Given the description of an element on the screen output the (x, y) to click on. 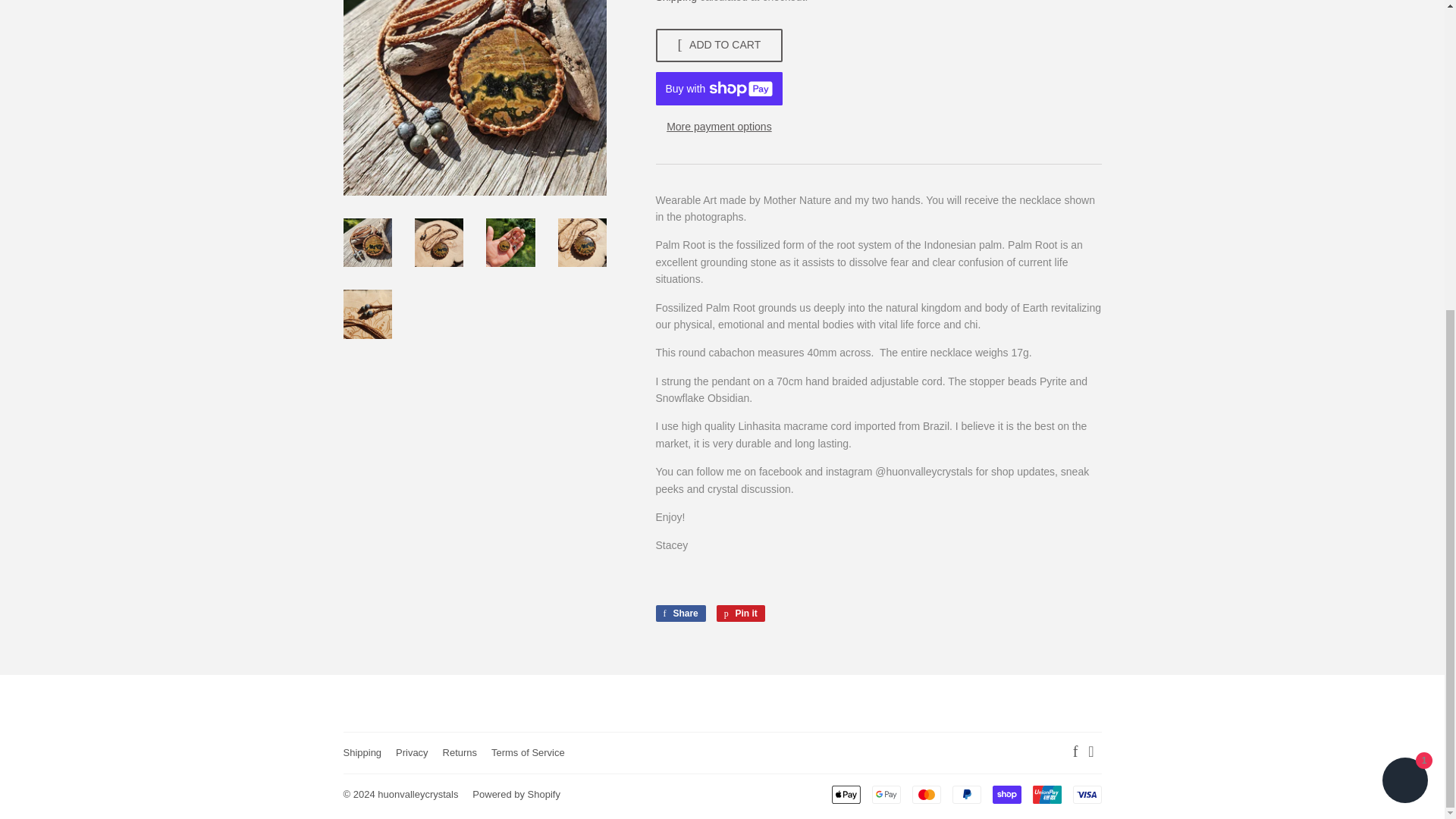
Terms of Service (740, 613)
Shopify online store chat (528, 752)
Apple Pay (1404, 289)
Union Pay (845, 794)
Shipping (1046, 794)
huonvalleycrystals (361, 752)
More payment options (417, 794)
Share on Facebook (719, 126)
Shipping (679, 613)
Powered by Shopify (676, 1)
Mastercard (515, 794)
ADD TO CART (925, 794)
Privacy (719, 45)
Returns (412, 752)
